Given the description of an element on the screen output the (x, y) to click on. 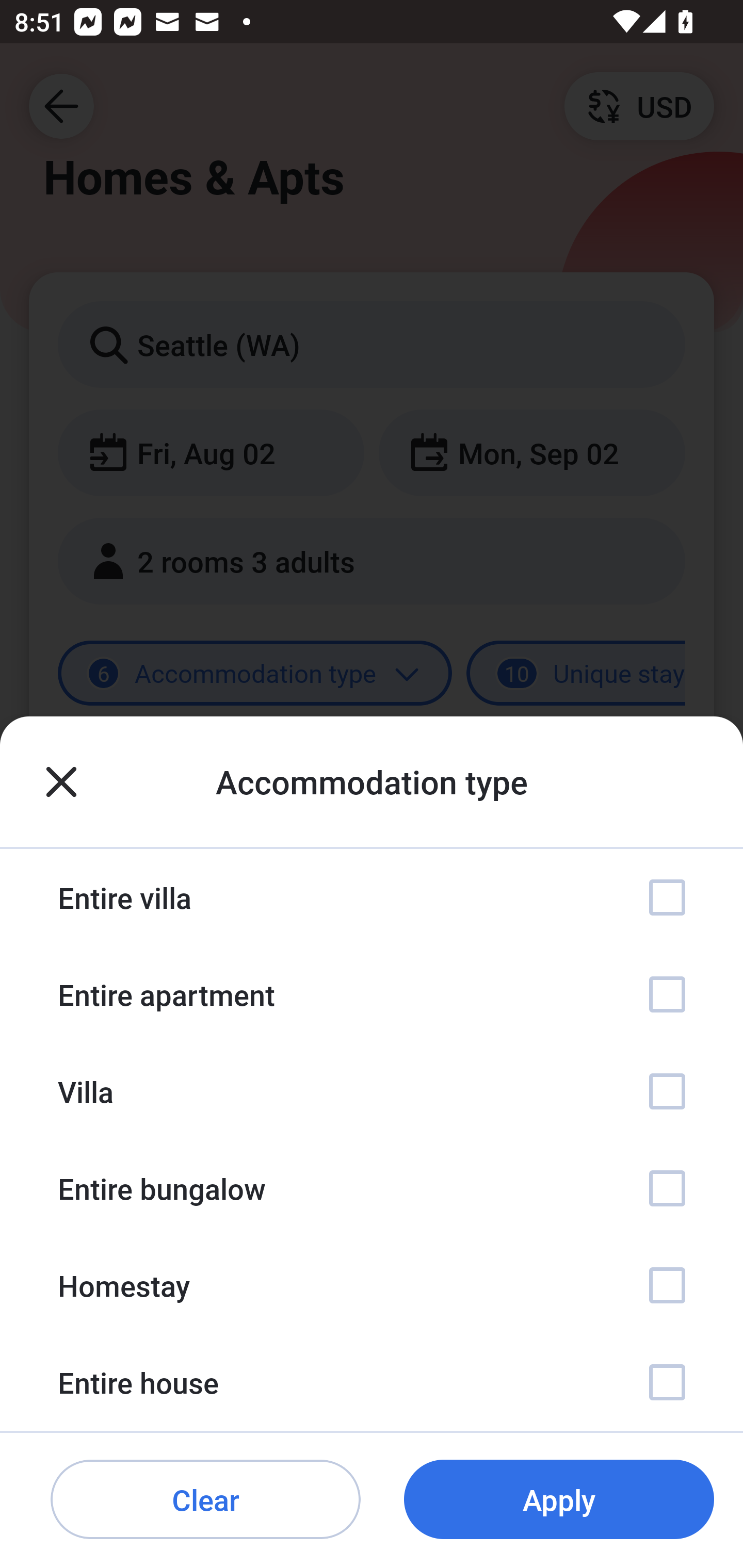
Entire villa (371, 897)
Entire apartment (371, 994)
Villa (371, 1091)
Entire bungalow (371, 1188)
Homestay (371, 1284)
Entire house (371, 1382)
Clear (205, 1499)
Apply (559, 1499)
